Given the description of an element on the screen output the (x, y) to click on. 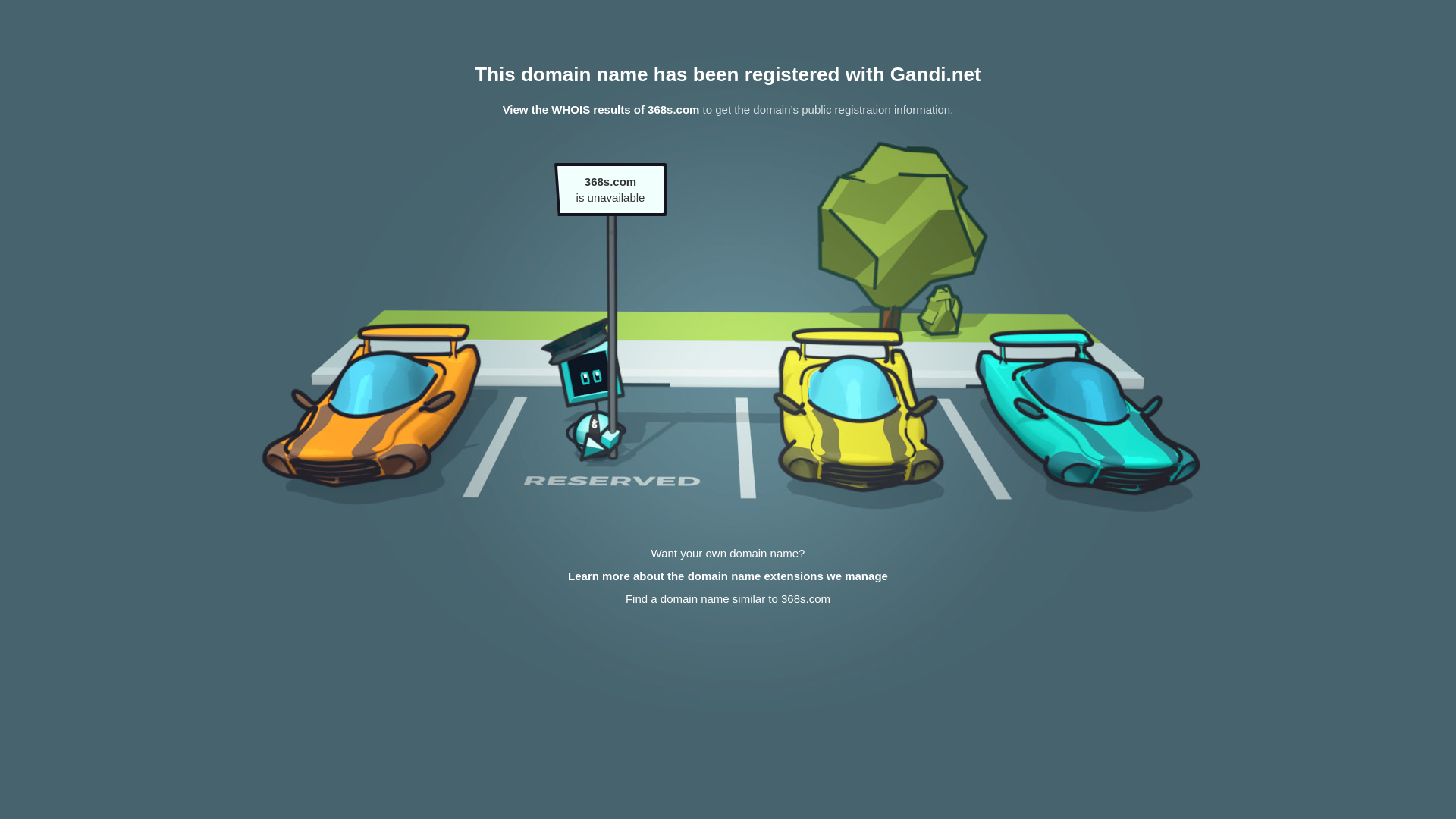
Find a domain name similar to 368s.com Element type: text (727, 598)
View the WHOIS results of 368s.com Element type: text (600, 109)
Learn more about the domain name extensions we manage Element type: text (727, 575)
